Given the description of an element on the screen output the (x, y) to click on. 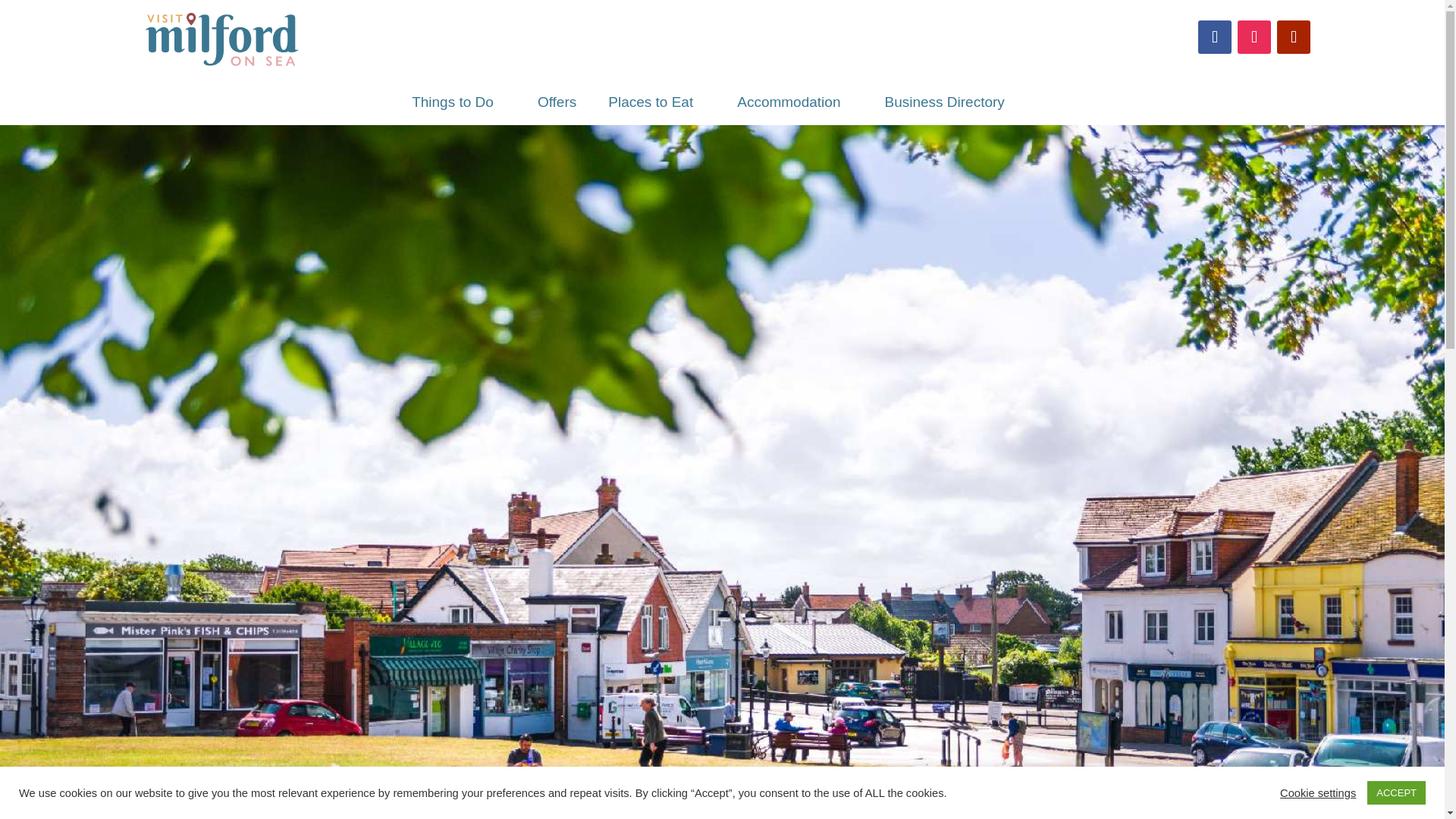
Follow on Facebook (1214, 37)
Offers (556, 105)
Follow on Youtube (1293, 37)
Accommodation (794, 105)
Things to Do (458, 105)
Follow on Instagram (1254, 37)
Places to Eat (656, 105)
Visit Milford on Sea logo (224, 42)
Business Directory (943, 105)
